Given the description of an element on the screen output the (x, y) to click on. 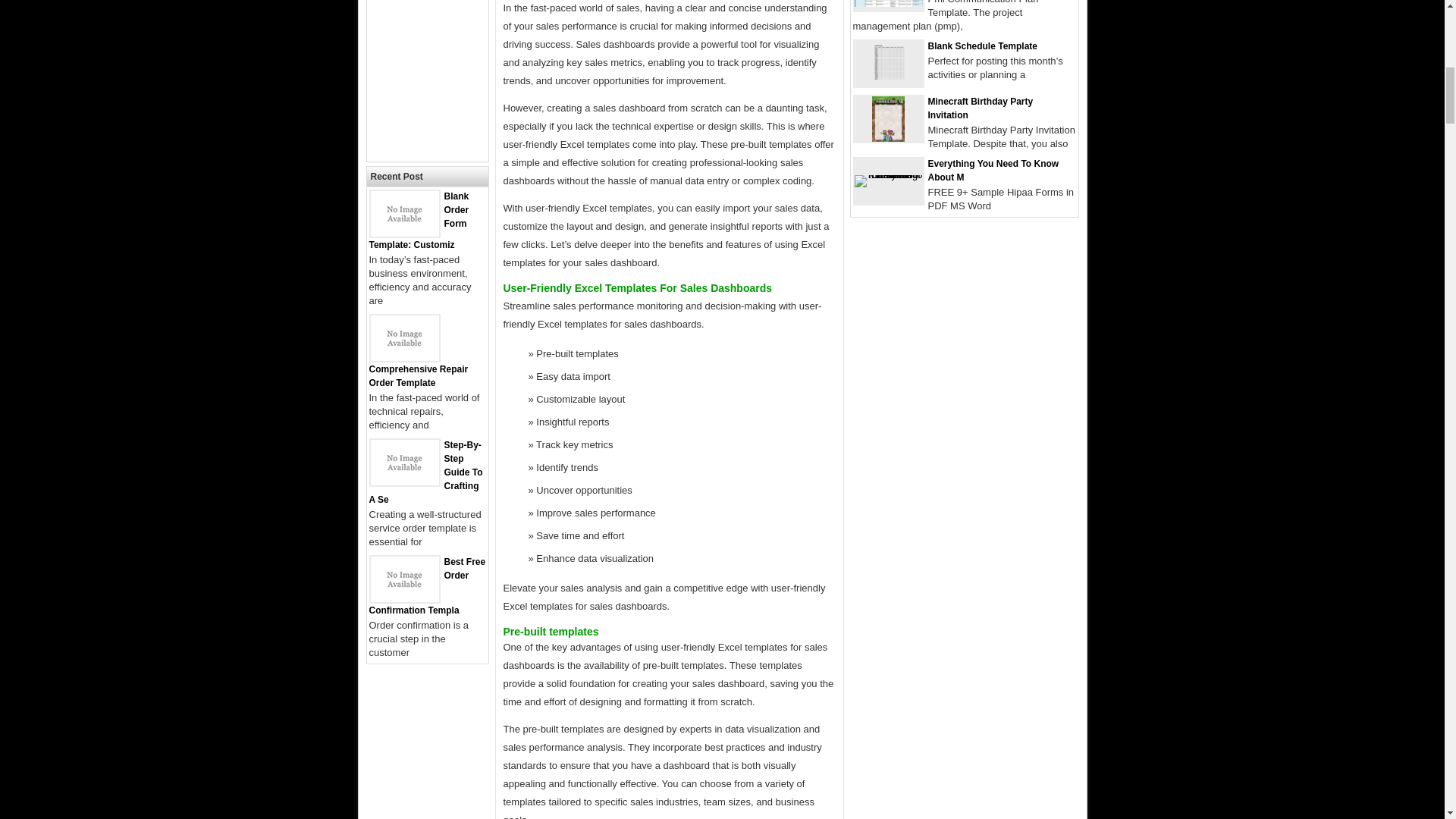
Comprehensive Repair Order Template (417, 375)
Blank Order Form Template: Customiz (418, 220)
Step-By-Step Guide To Crafting A Se (424, 472)
